Given the description of an element on the screen output the (x, y) to click on. 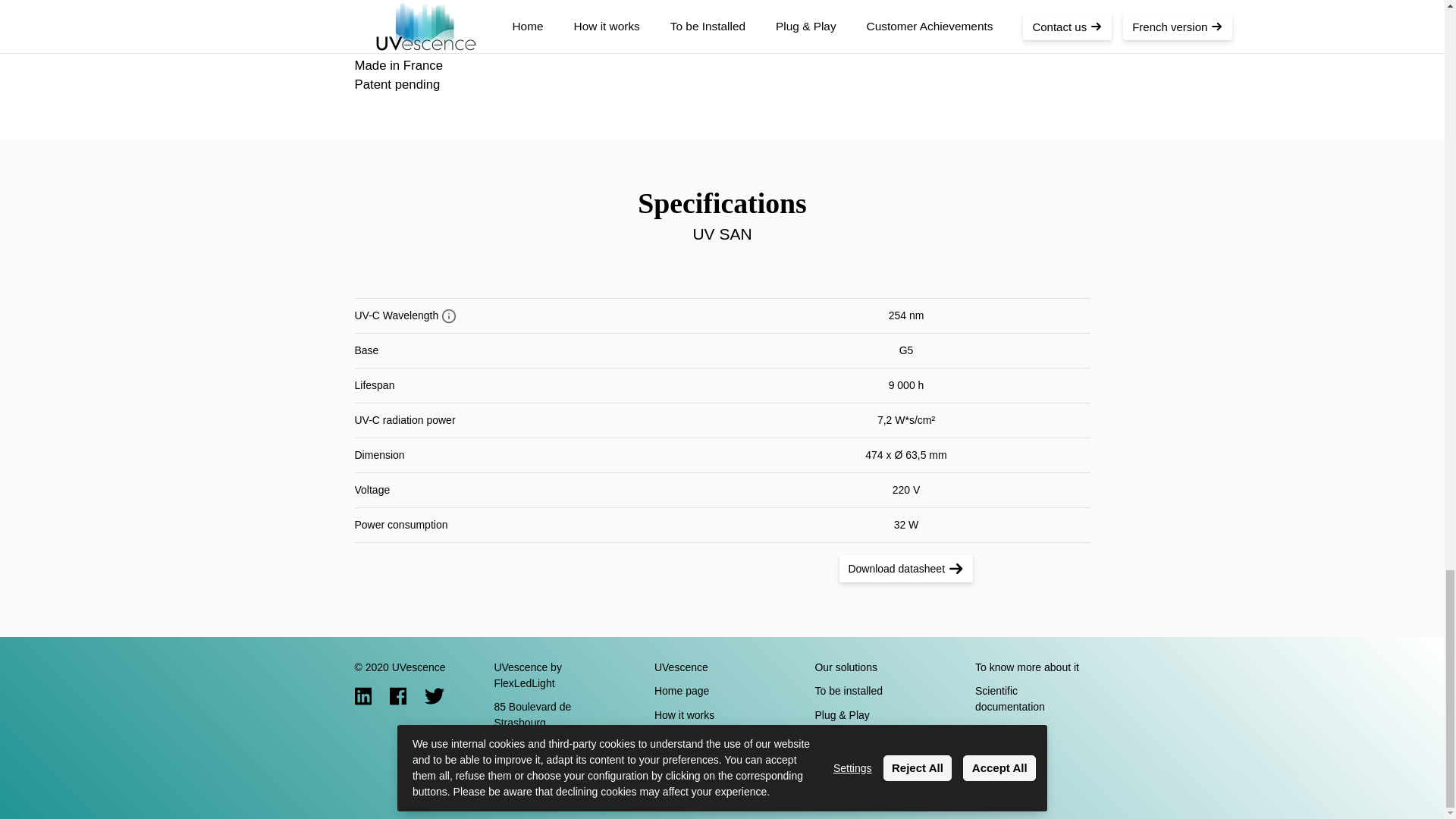
Download datasheet (906, 568)
Custom-made (871, 739)
85 Boulevard de Strasbourg (550, 714)
Home page (711, 690)
Privacy Policy (1032, 731)
To be installed (871, 690)
About us (711, 739)
Legal Notice (1032, 755)
Scientific documentation (1032, 699)
How it works (711, 715)
